Given the description of an element on the screen output the (x, y) to click on. 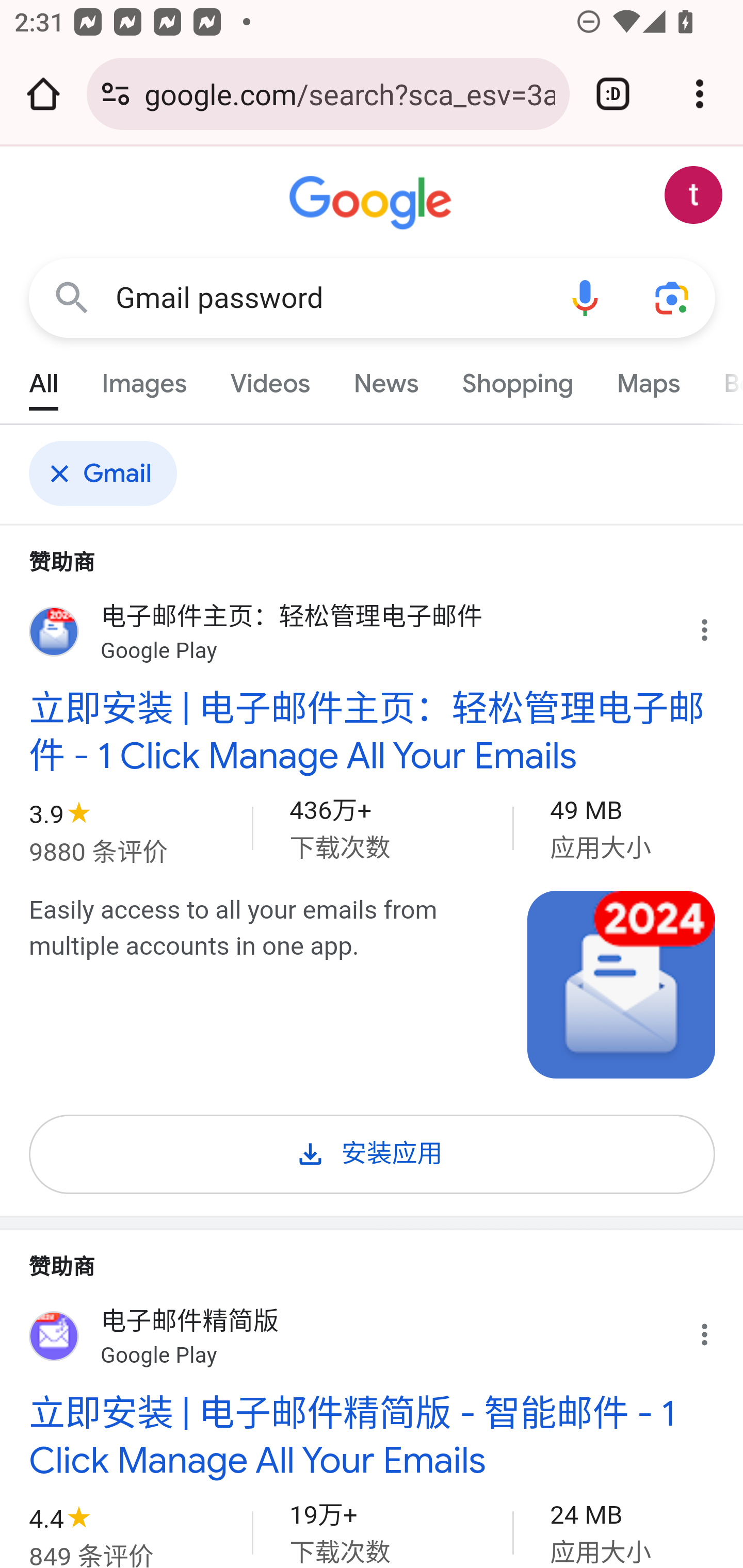
Open the home page (43, 93)
Connection is secure (115, 93)
Switch or close tabs (612, 93)
Customize and control Google Chrome (699, 93)
Google (372, 203)
Google 账号： test appium (testappium002@gmail.com) (694, 195)
Google 搜索 (71, 296)
使用拍照功能或照片进行搜索 (672, 296)
Gmail password (328, 297)
Images (144, 378)
Videos (270, 378)
News (385, 378)
Shopping (516, 378)
Maps (647, 378)
移除“Gmail” Gmail (108, 473)
为什么会显示该广告？ (714, 625)
图片来自 google.com (621, 983)
安装应用 (372, 1150)
为什么会显示该广告？ (714, 1329)
